Given the description of an element on the screen output the (x, y) to click on. 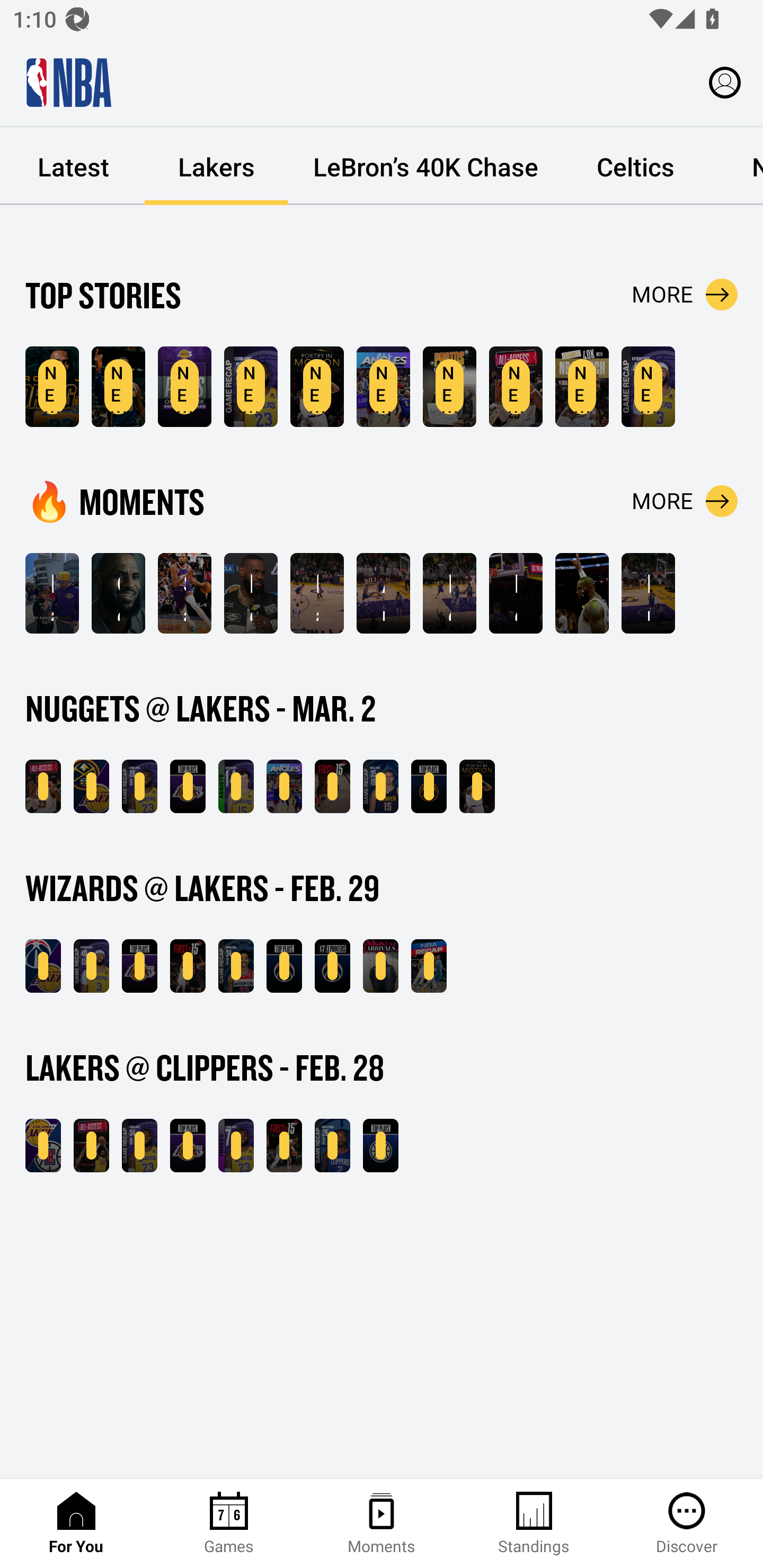
Profile (724, 81)
Latest (72, 166)
LeBron’s 40K Chase (425, 166)
Celtics (634, 166)
MORE (684, 294)
NEW LeBron Tracker: Lakers star reaches 40,000 (51, 386)
NEW Milestone Baskets From LeBron's Career (117, 386)
NEW LAL's Top Plays of Week 19 (184, 386)
NEW Highlights From LeBron James' 26-Point Game (250, 386)
NEW LeBron's Historic Night In Slo-Mo 🎥 (317, 386)
All Angles Of LeBron's Historic Shot 👀 NEW (383, 386)
Scenes From LeBron's 40K Night 📸 NEW (449, 386)
Inside LeBron's 40K Milestone On ABC 🎥 NEW (515, 386)
Shop LeBron Merch Now 👑🛒 NEW (581, 386)
Highlights From Anthony Davis' 40-Point Game NEW (648, 386)
MORE (684, 500)
Saturday's Top Plays In 30 Seconds ⏱ (184, 593)
Radio Call Of The Lebron Bucket For 40K 📻 (317, 593)
Austin Reaves with the assist (383, 593)
LeBron James hits from way downtown (449, 593)
LeBron James with the hoop & harm (515, 593)
👏👑🙌 (581, 593)
Dunk by Jaxson Hayes (648, 593)
NEW Inside LeBron's 40K Milestone On ABC 🎥 (43, 785)
NEW DEN 124, LAL 114 - Mar 2 (91, 785)
NEW Highlights From LeBron James' 26-Point Game (139, 785)
NEW LAL's Top Plays from DEN vs. LAL (187, 785)
NEW Highlights From Austin Reaves' 14-Assist Game (236, 785)
All Angles Of LeBron's Historic Shot 👀 NEW (284, 785)
First To 15 Mar. 2nd NEW (332, 785)
Highlights From Nikola Jokic's 35-Point Game NEW (380, 785)
DEN's Top Plays from DEN vs. LAL NEW (428, 785)
LeBron's Historic Night In Slo-Mo 🎥 NEW (477, 785)
NEW LAL 134, WAS 131 - Feb 29 (43, 965)
NEW Highlights From Anthony Davis' 40-Point Game (91, 965)
NEW LAL's Top Plays from WAS vs. LAL (139, 965)
NEW First To 15: Feb. 29th (187, 965)
NEW Highlights From Jordan Poole's 34-Point Game (236, 965)
WAS' Top Plays from WAS vs. LAL NEW (284, 965)
All 3's from WAS' 17 3-Pointer Night NEW (332, 965)
Thursday Night's Arrivals 🔥 NEW (380, 965)
Thursday's Recap NEW (428, 965)
NEW LAL 116, LAC 112 - Feb 28 (43, 1145)
NEW LeBron Takes Over In The Battle Of LA (91, 1145)
NEW Highlights From LeBron James's 34-Point Game (139, 1145)
NEW LAL's Top Plays from LAL vs. LAC (187, 1145)
First To 15: Feb. 28th NEW (284, 1145)
Highlights From Kawhi Leonard's 26-Point Game NEW (332, 1145)
LAC's Top Plays from LAL vs. LAC NEW (380, 1145)
Games (228, 1523)
Moments (381, 1523)
Standings (533, 1523)
Discover (686, 1523)
